Given the description of an element on the screen output the (x, y) to click on. 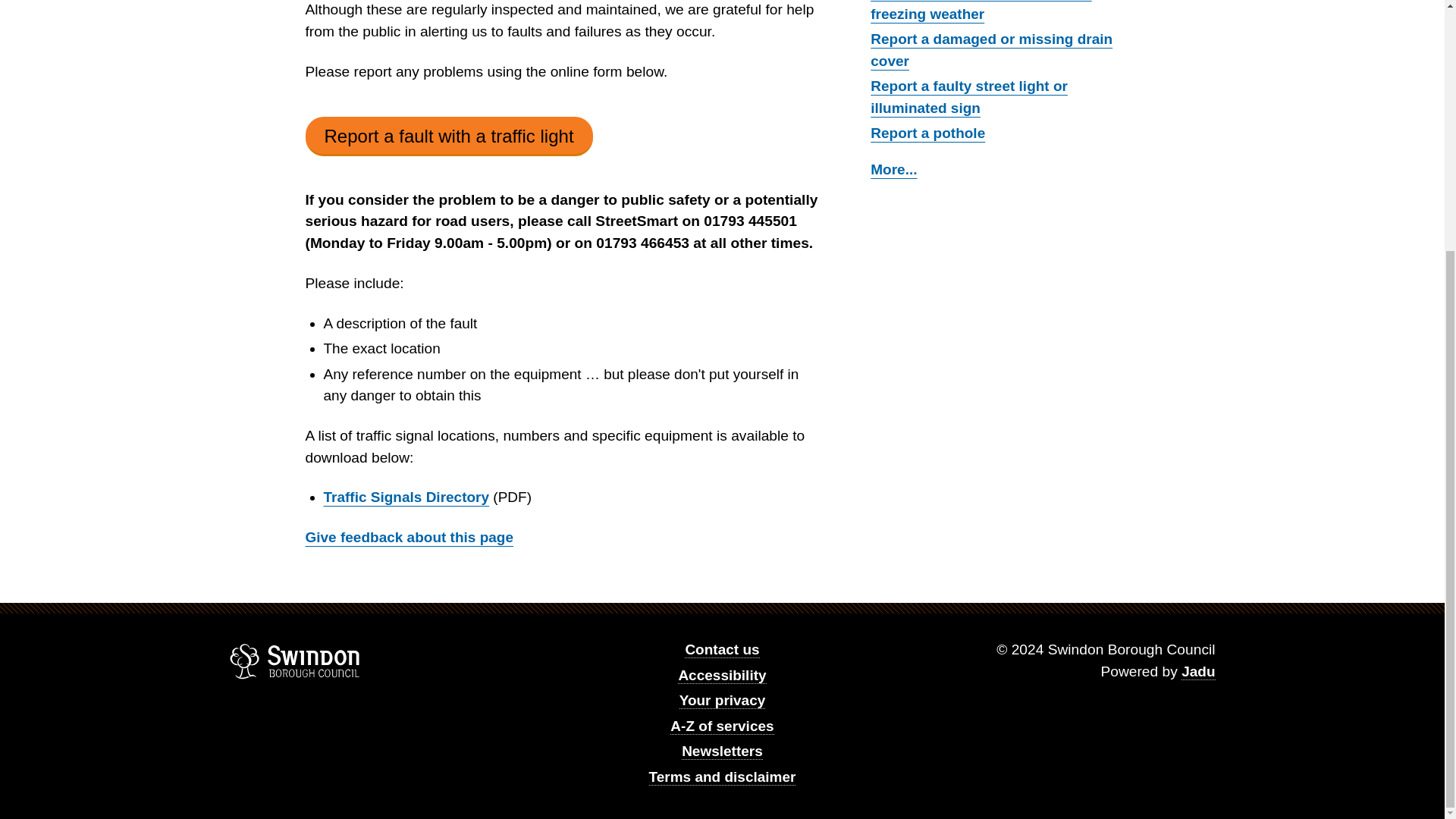
Traffic Signals Directory (406, 496)
Jadu (1197, 671)
Contact us (721, 649)
Report a fault with a traffic light (448, 136)
Report a faulty street light or illuminated sign (968, 96)
Your privacy (722, 700)
Report a damaged or missing drain cover (991, 49)
A-Z of services (721, 726)
Report a pothole (927, 132)
Give feedback about this page (408, 537)
